Given the description of an element on the screen output the (x, y) to click on. 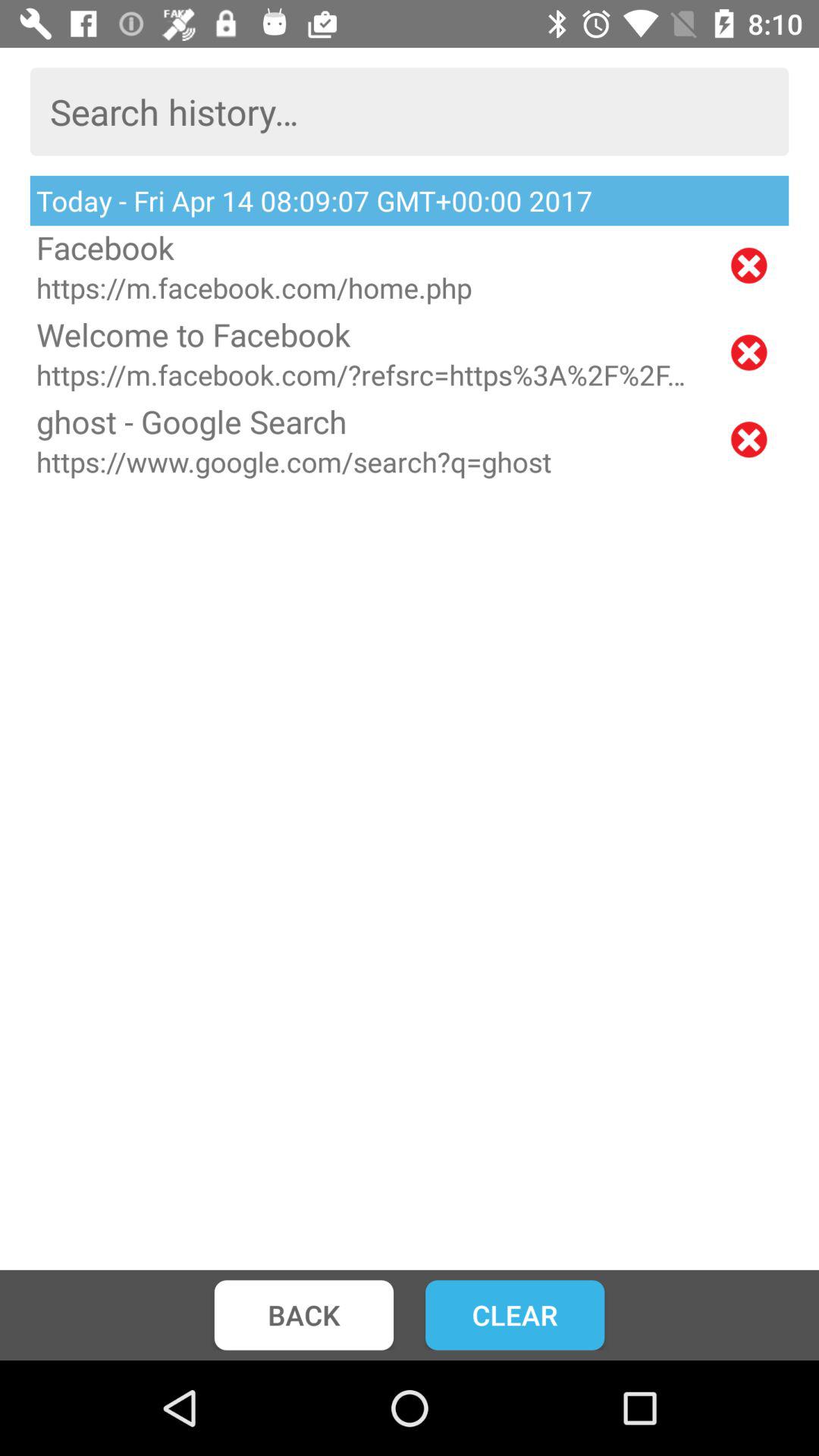
history search bar (409, 111)
